Given the description of an element on the screen output the (x, y) to click on. 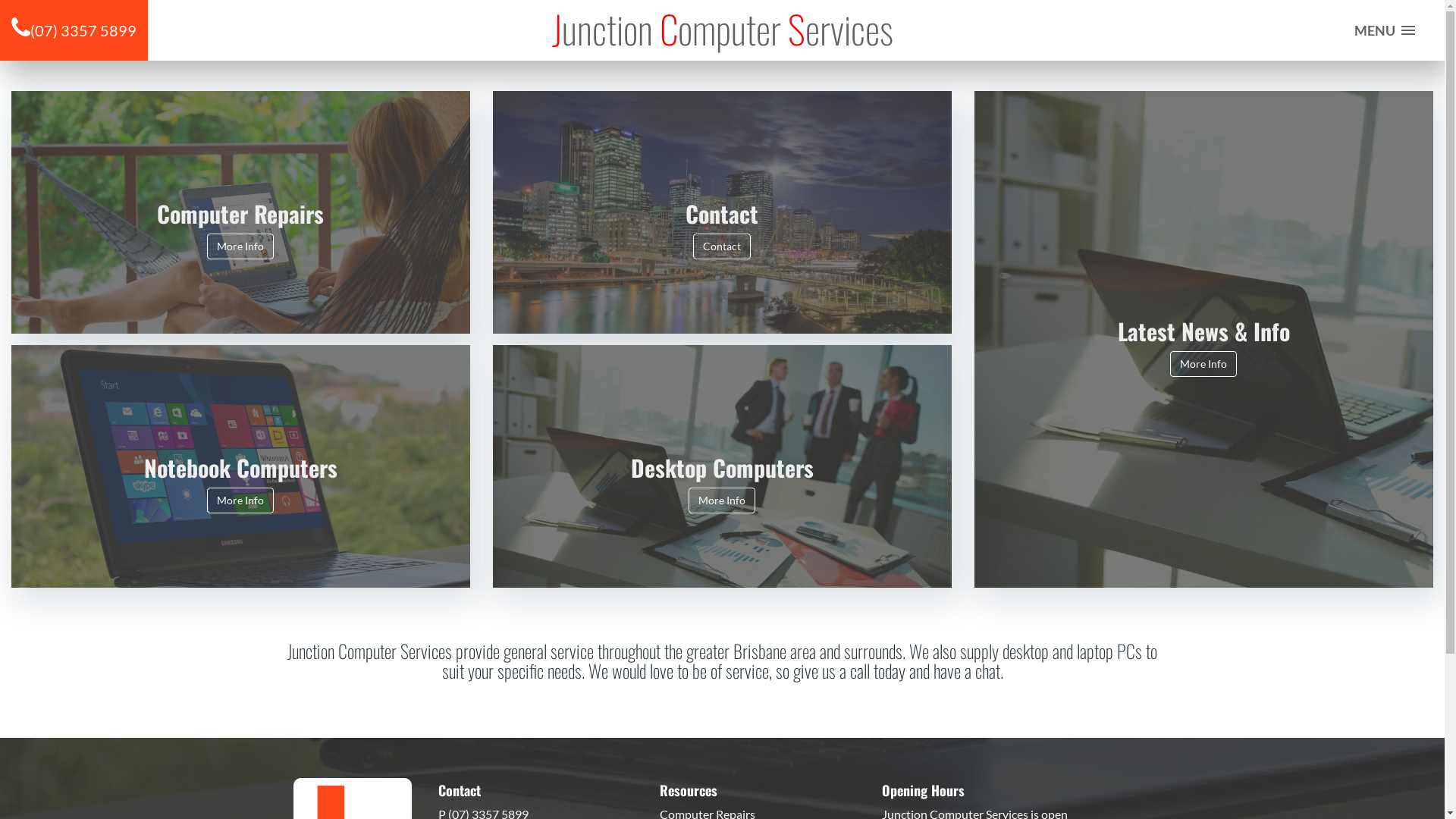
More Info Element type: text (240, 246)
More Info Element type: text (1203, 363)
Junction Computer Services Element type: text (721, 28)
Contact Element type: text (721, 246)
MENU Element type: text (1380, 29)
More Info Element type: text (721, 500)
More Info Element type: text (240, 500)
